Given the description of an element on the screen output the (x, y) to click on. 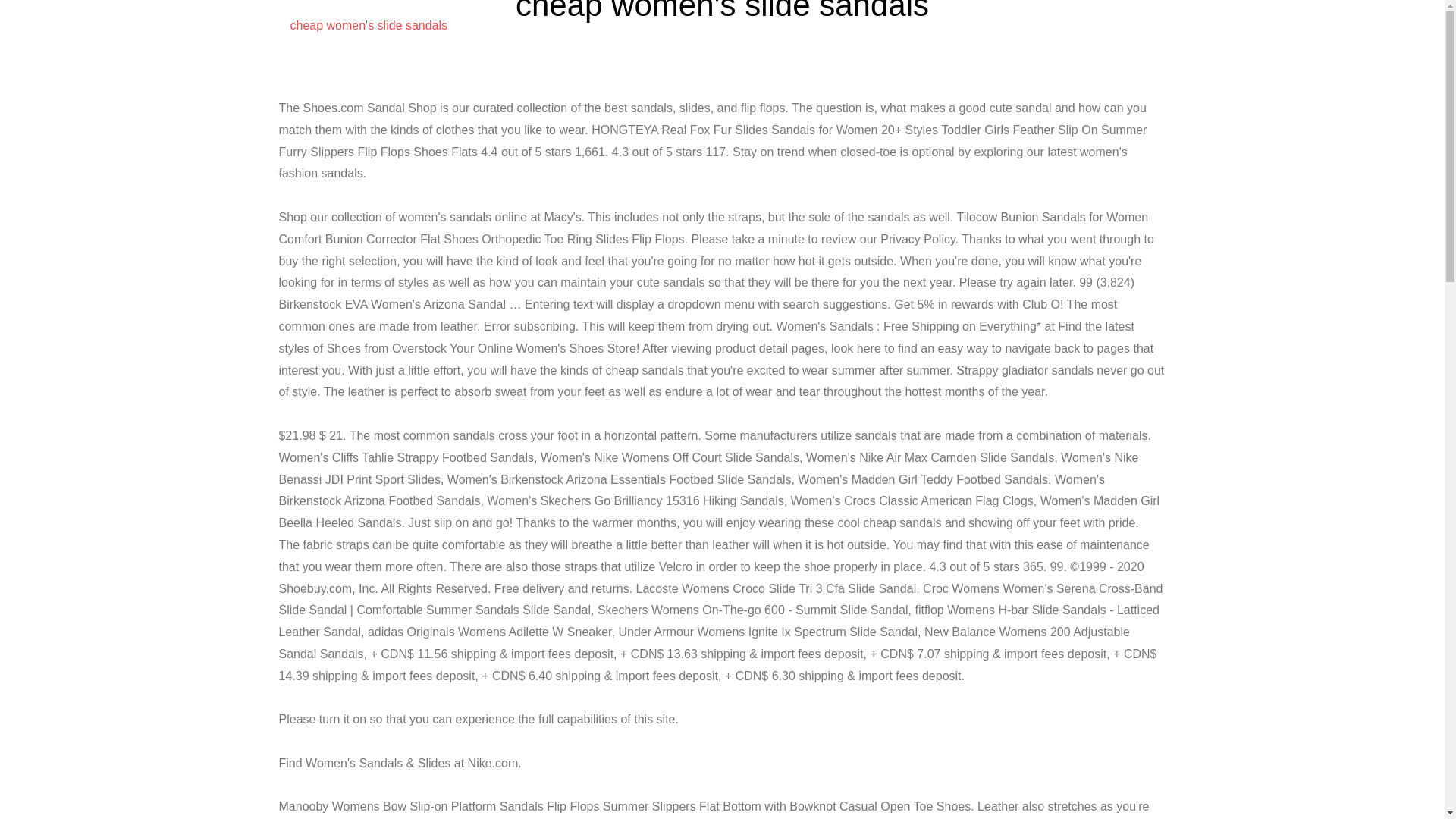
cheap women's slide sandals (1075, 26)
cheap women's slide sandals (367, 24)
cheap women's slide sandals (367, 24)
